Given the description of an element on the screen output the (x, y) to click on. 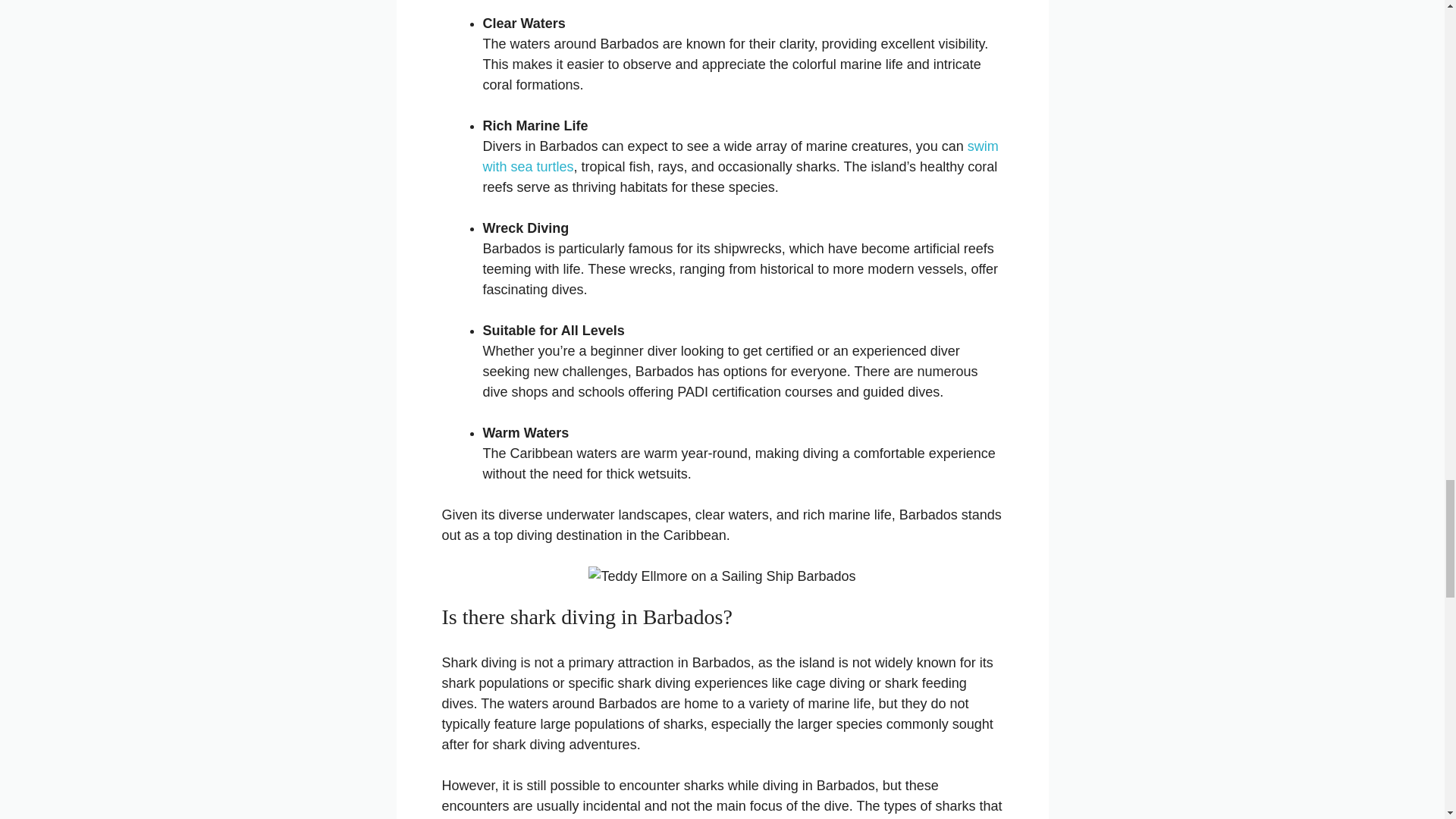
swim with sea turtles (739, 156)
